Given the description of an element on the screen output the (x, y) to click on. 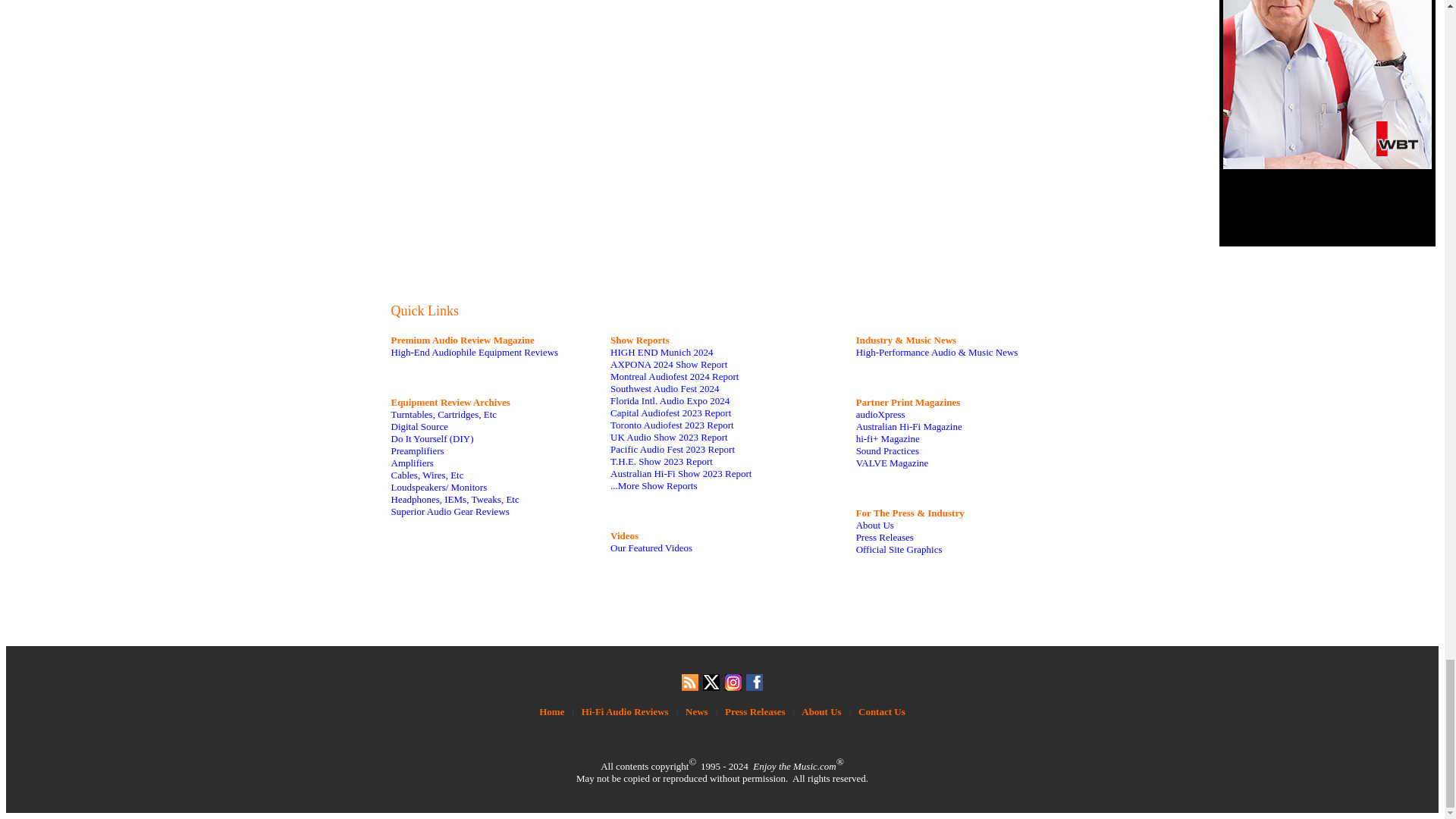
High-End Audiophile Equipment Reviews (475, 351)
Digital Source (419, 426)
Preamplifiers (417, 450)
Cables, Wires, Etc (427, 474)
Headphones, IEMs, Tweaks, Etc (455, 499)
Amplifiers (412, 462)
Turntables, Cartridges, Etc (444, 414)
